Given the description of an element on the screen output the (x, y) to click on. 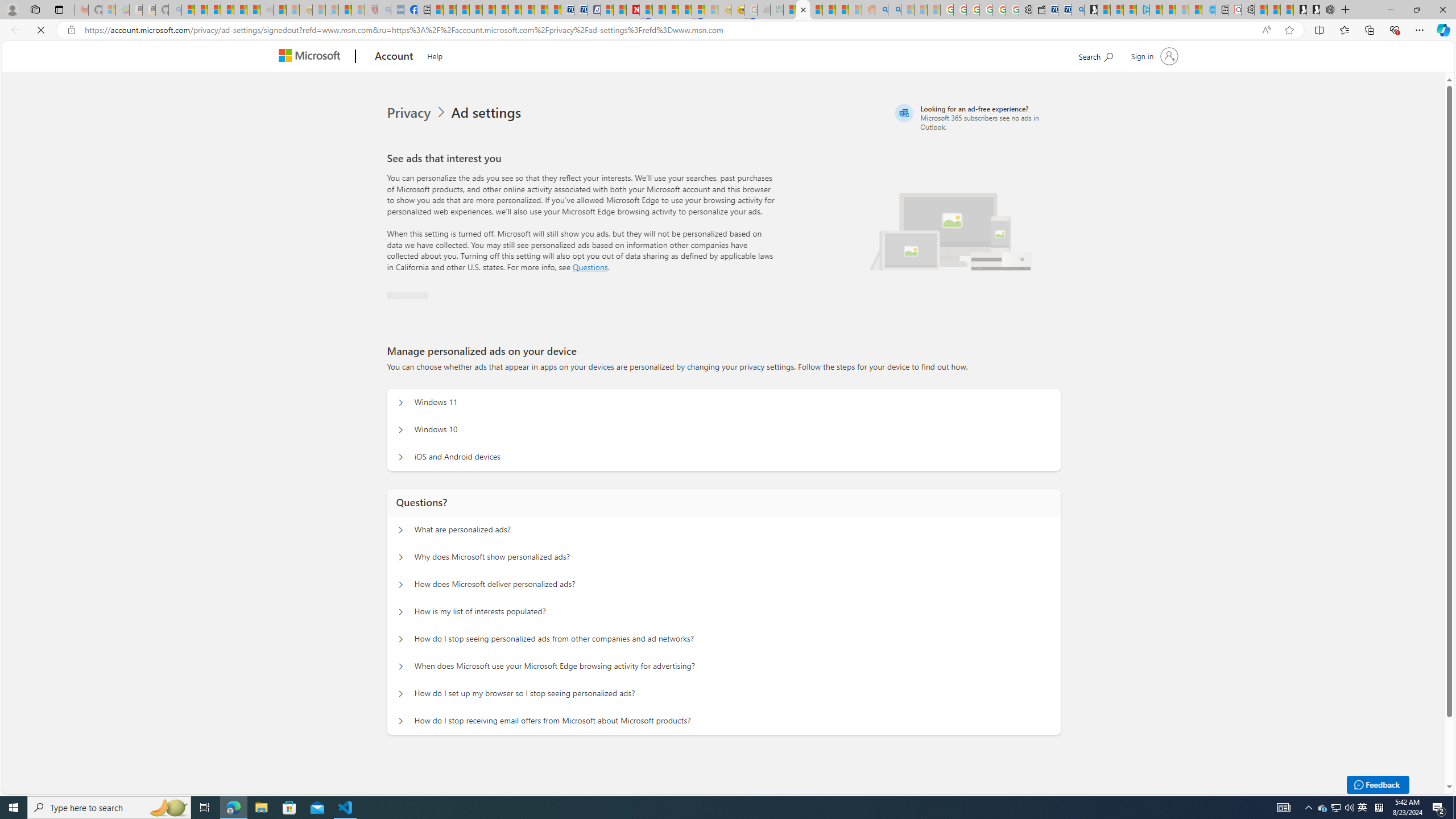
Account (394, 56)
Questions? How is my list of interests populated? (399, 612)
Looking for an ad-free experience? (976, 117)
Climate Damage Becomes Too Severe To Reverse (475, 9)
